Given the description of an element on the screen output the (x, y) to click on. 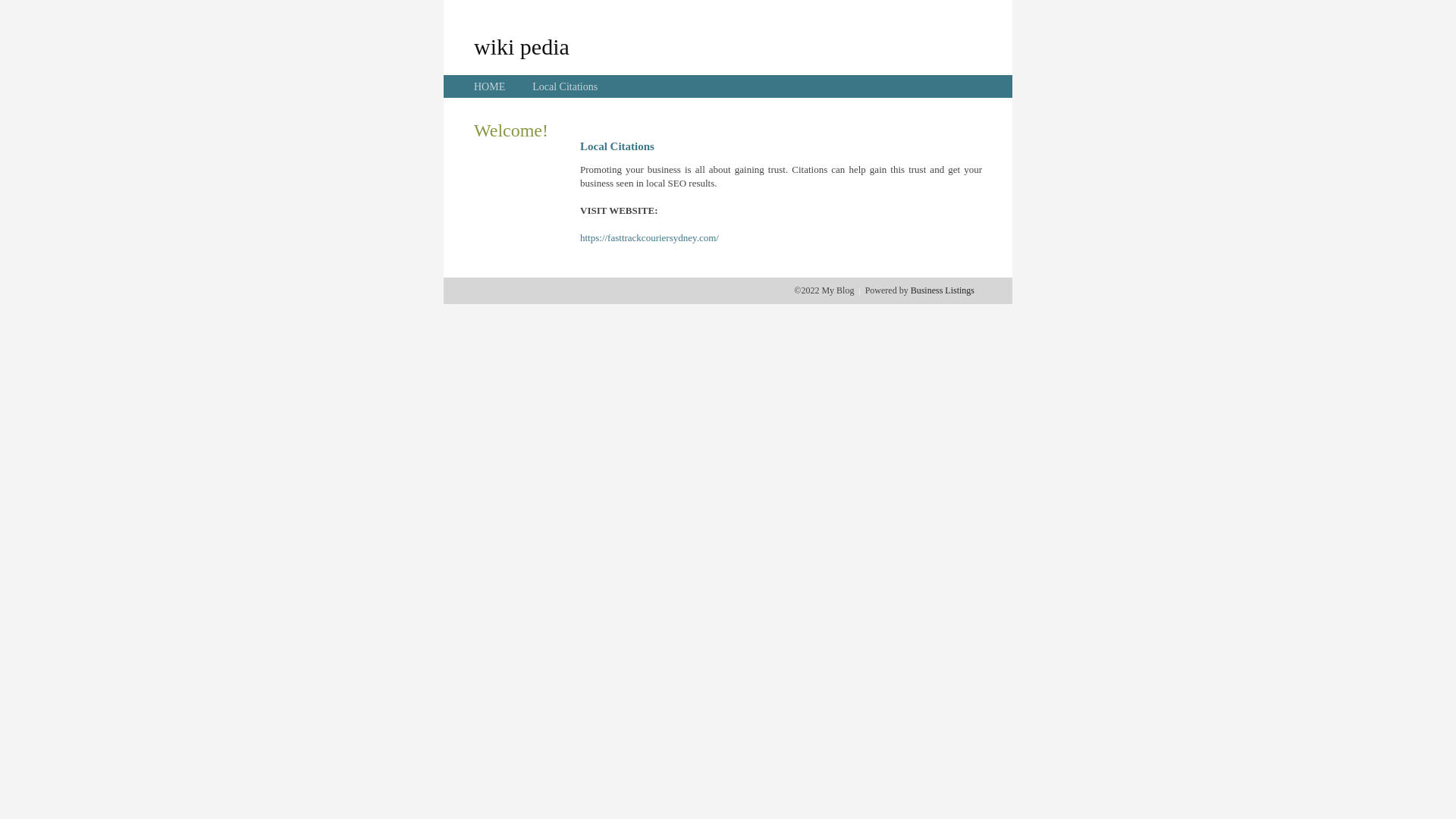
Local Citations Element type: text (564, 86)
Business Listings Element type: text (942, 290)
wiki pedia Element type: text (521, 46)
HOME Element type: text (489, 86)
https://fasttrackcouriersydney.com/ Element type: text (649, 237)
